Given the description of an element on the screen output the (x, y) to click on. 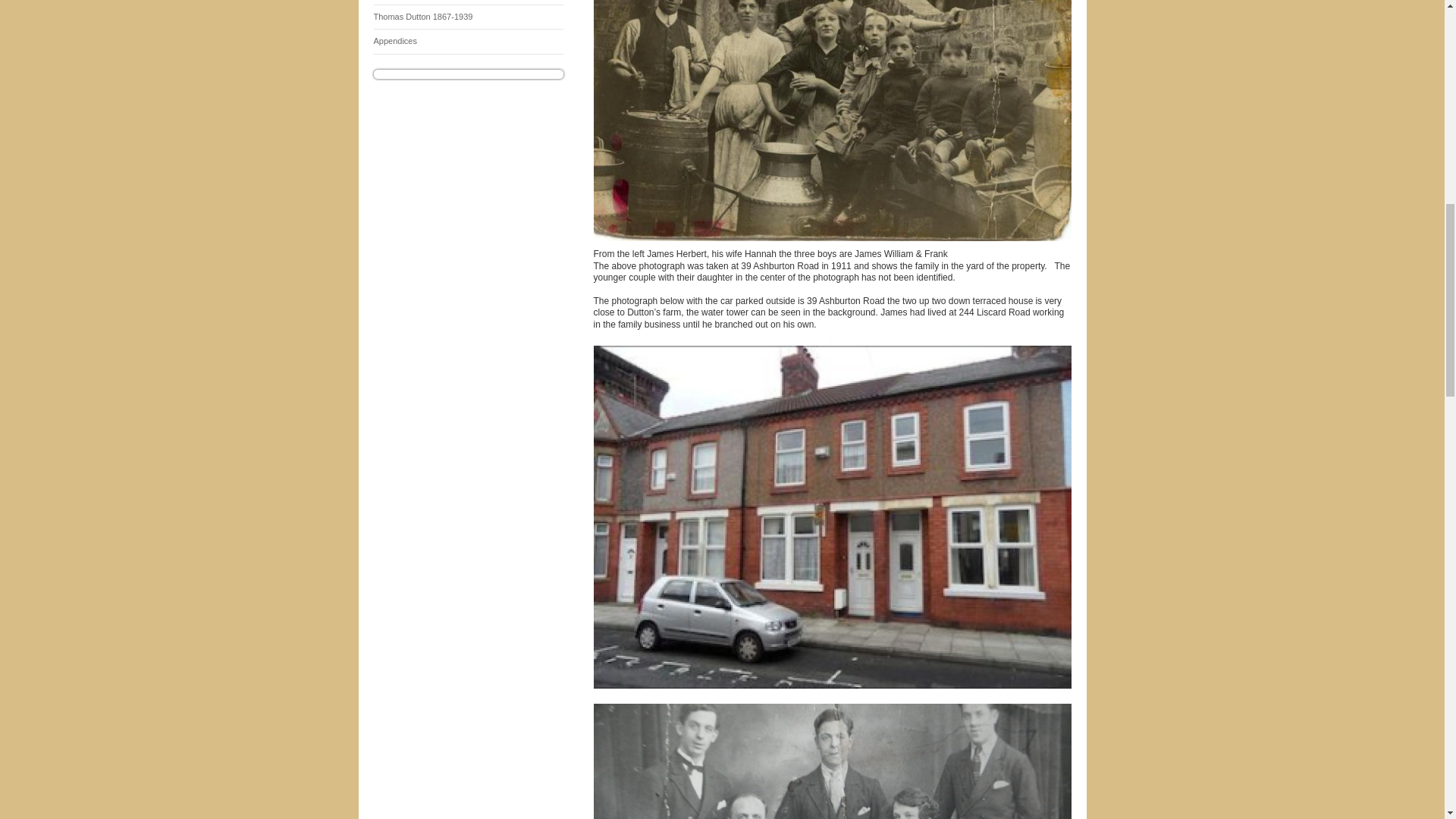
Appendices (467, 41)
James Herbert Dutton 1882-1945 (475, 2)
Thomas Dutton 1867-1939 (467, 16)
